Given the description of an element on the screen output the (x, y) to click on. 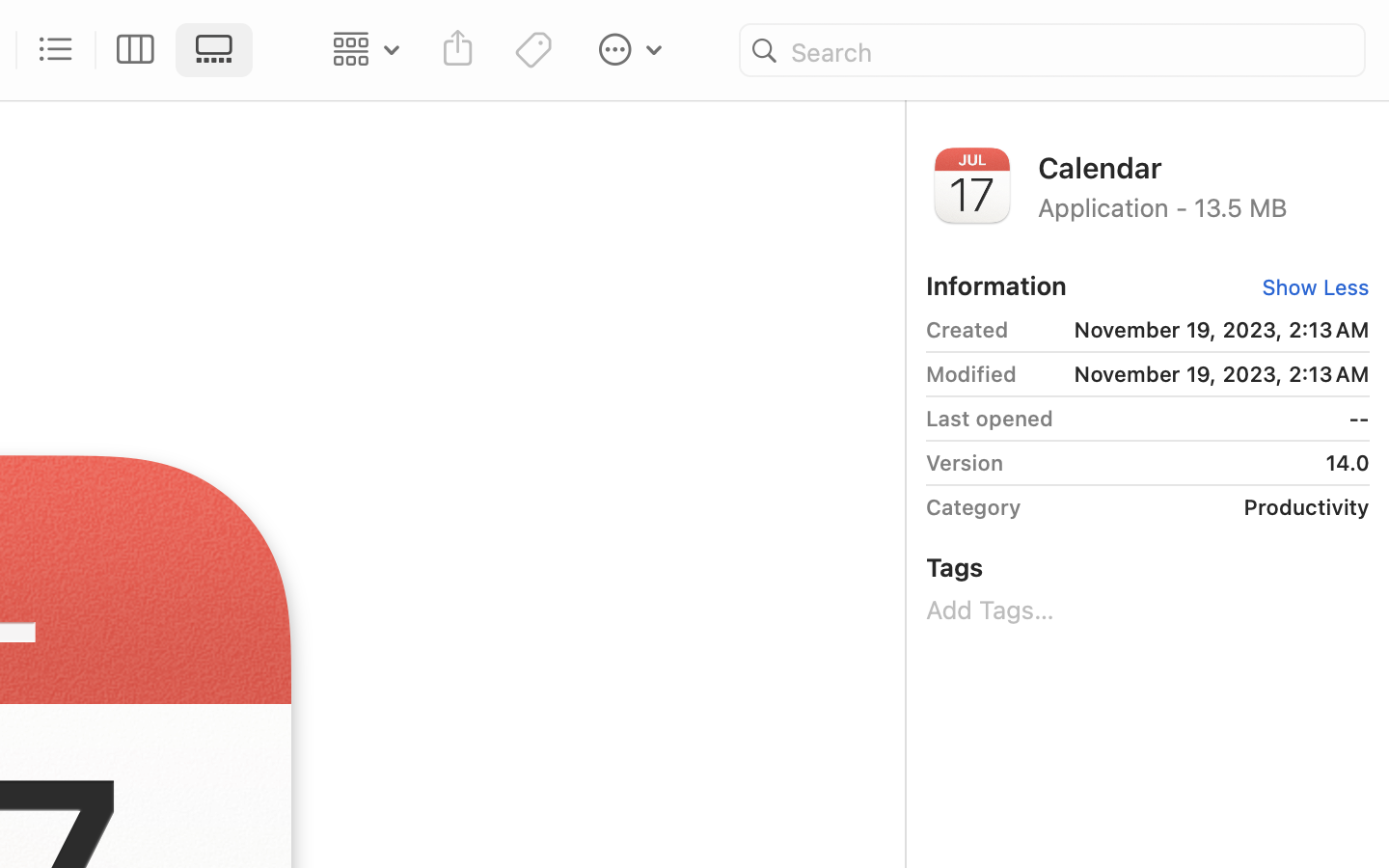
Modified Element type: AXStaticText (971, 373)
